Given the description of an element on the screen output the (x, y) to click on. 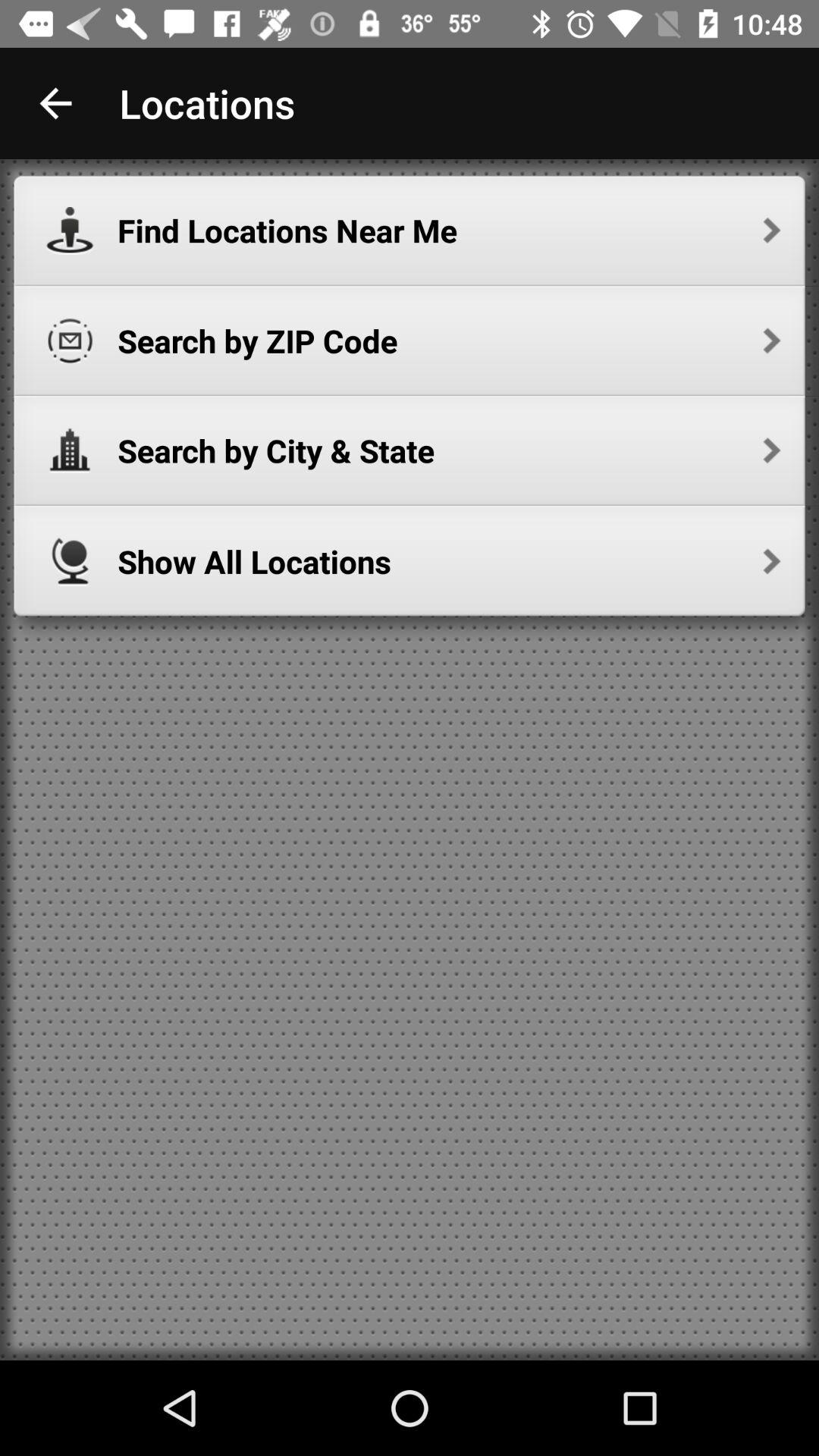
press app to the left of locations app (55, 103)
